Given the description of an element on the screen output the (x, y) to click on. 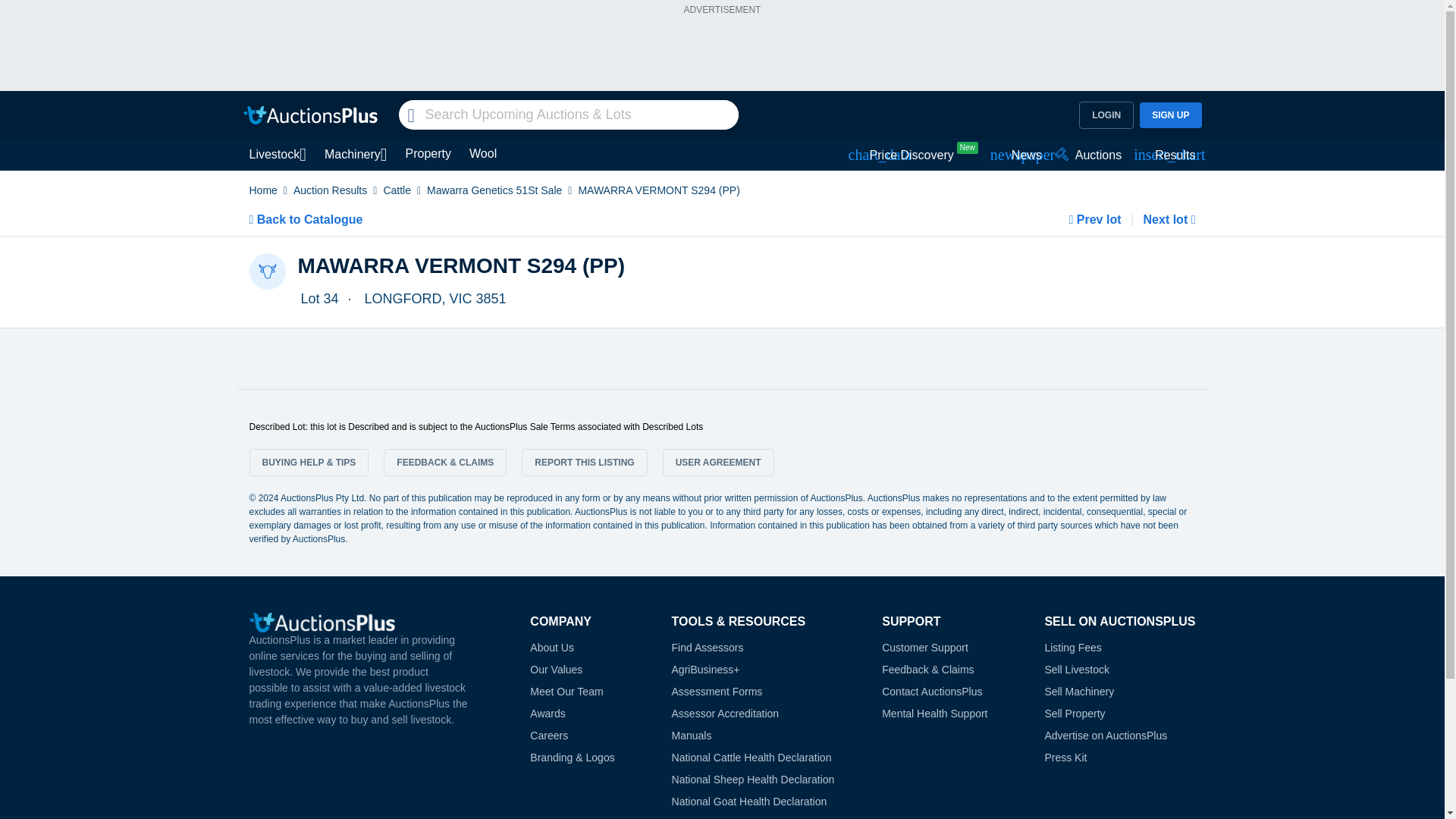
Property (428, 154)
SIGN UP (1170, 114)
3rd party ad content (721, 53)
View previous lot in auction (1096, 219)
View next lot in auction (1167, 219)
LOGIN (1106, 114)
